Given the description of an element on the screen output the (x, y) to click on. 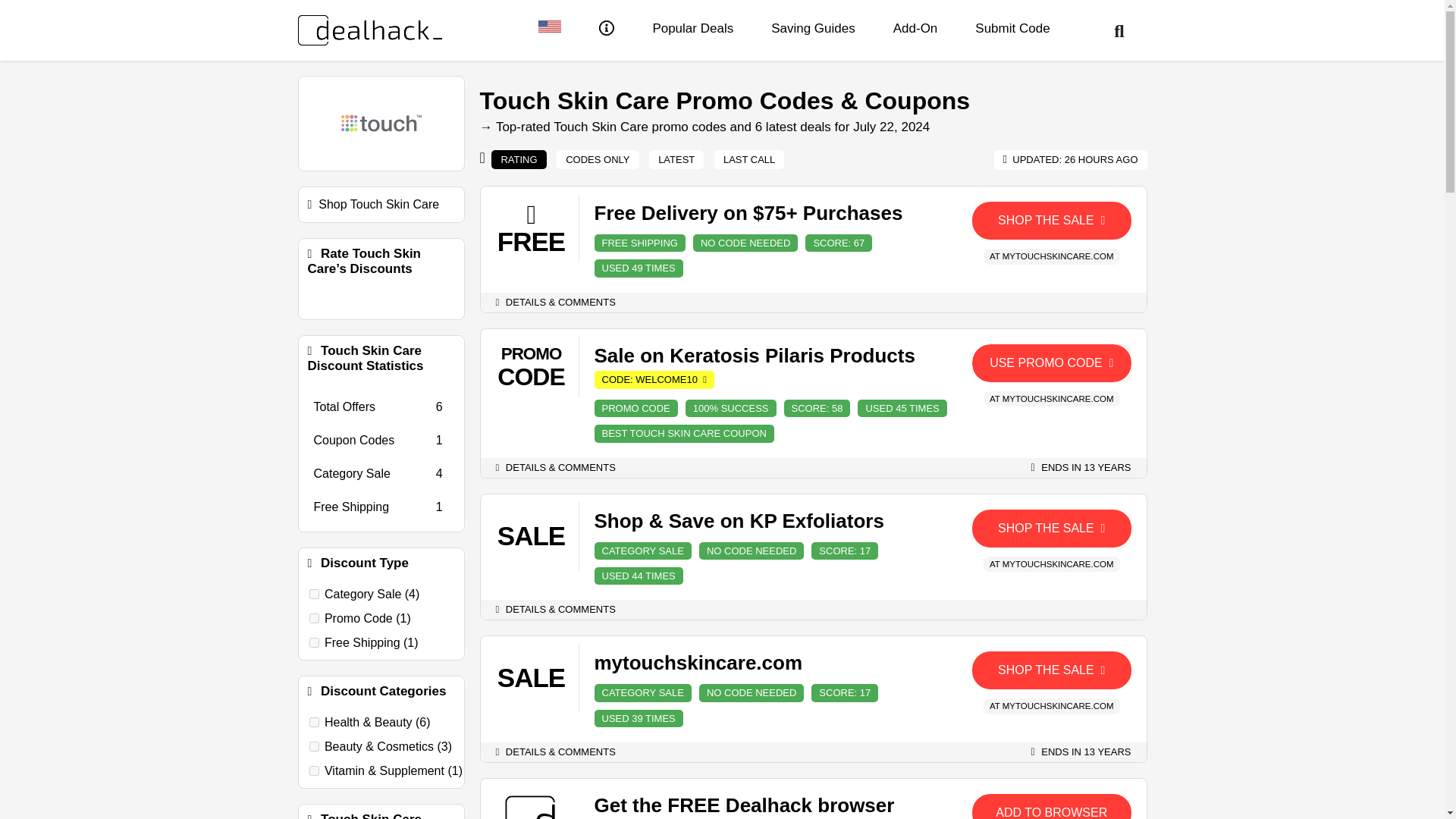
vitamins-supplements (313, 770)
Click to open site (1051, 528)
See offer details or comment on mytouchskincare.com (555, 751)
Popular Deals (692, 29)
Click to open site (1051, 670)
Affiliate Disclaimer (606, 30)
beauty-cosmetics (313, 746)
Dealhack USA (549, 29)
freeshipping (313, 642)
coupon-code (313, 618)
health-beauty (313, 722)
category (313, 593)
Click to open site (1051, 806)
Click to open site (1051, 220)
